Given the description of an element on the screen output the (x, y) to click on. 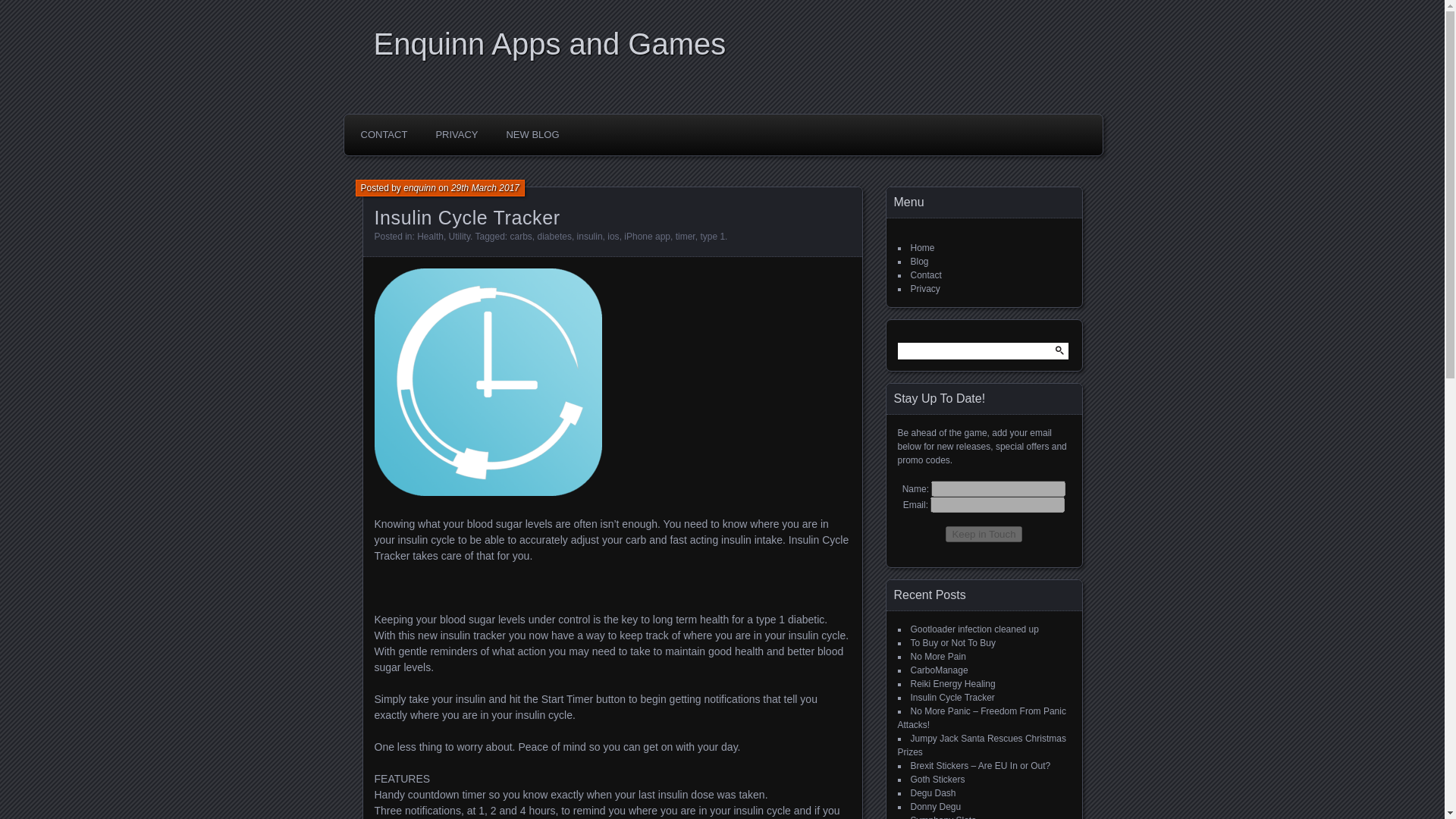
ios (612, 235)
iPhone app (646, 235)
Search (21, 7)
CONTACT (384, 134)
insulin (589, 235)
Gootloader infection cleaned up (974, 629)
Blog (919, 261)
Jumpy Jack Santa Rescues Christmas Prizes (981, 745)
type 1 (712, 235)
Keep in Touch (983, 534)
